Given the description of an element on the screen output the (x, y) to click on. 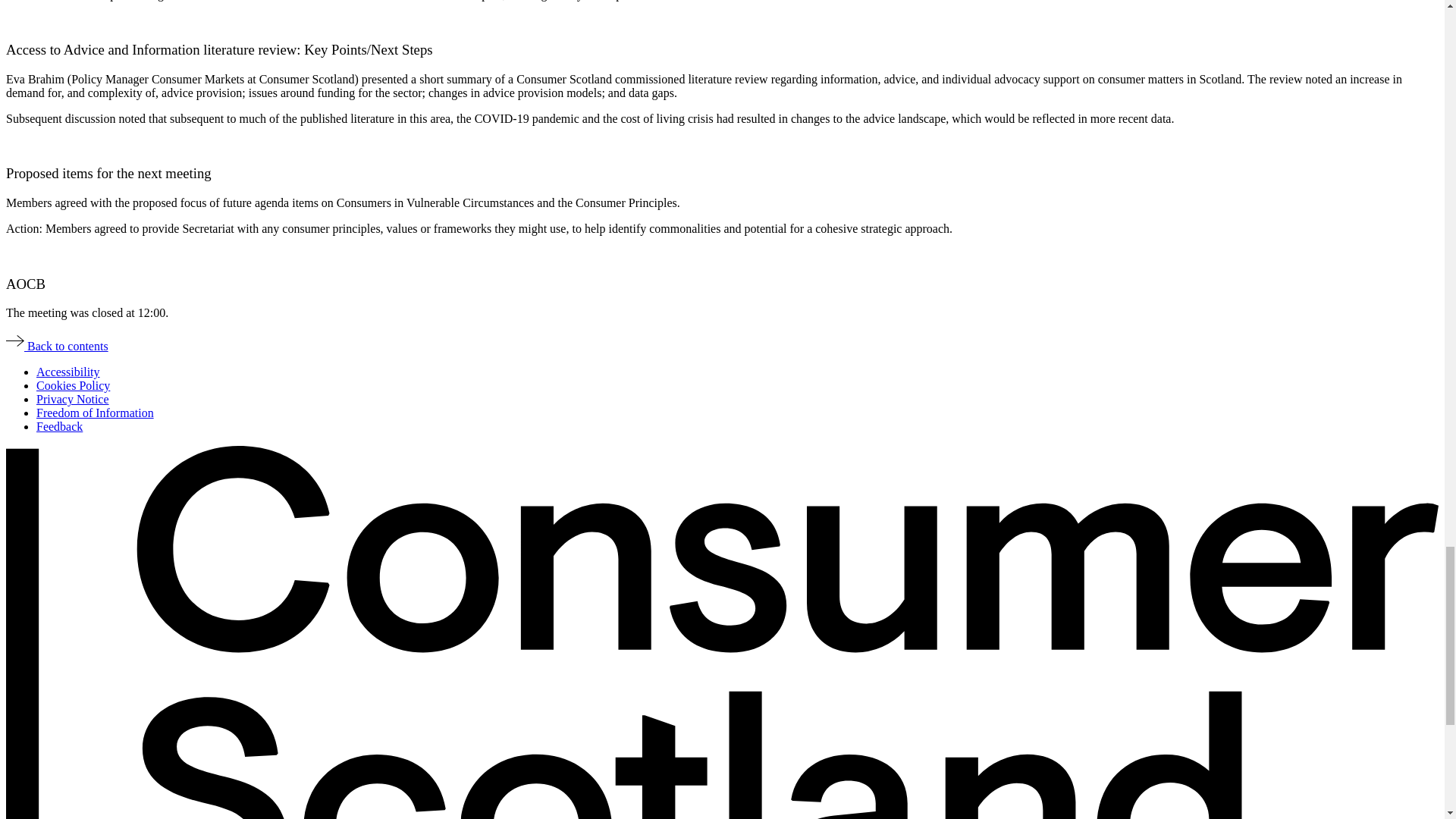
Feedback (59, 426)
Freedom of Information (95, 412)
Privacy Notice (72, 399)
Back to contents (56, 345)
Accessibility (68, 371)
Cookies Policy (73, 385)
